Given the description of an element on the screen output the (x, y) to click on. 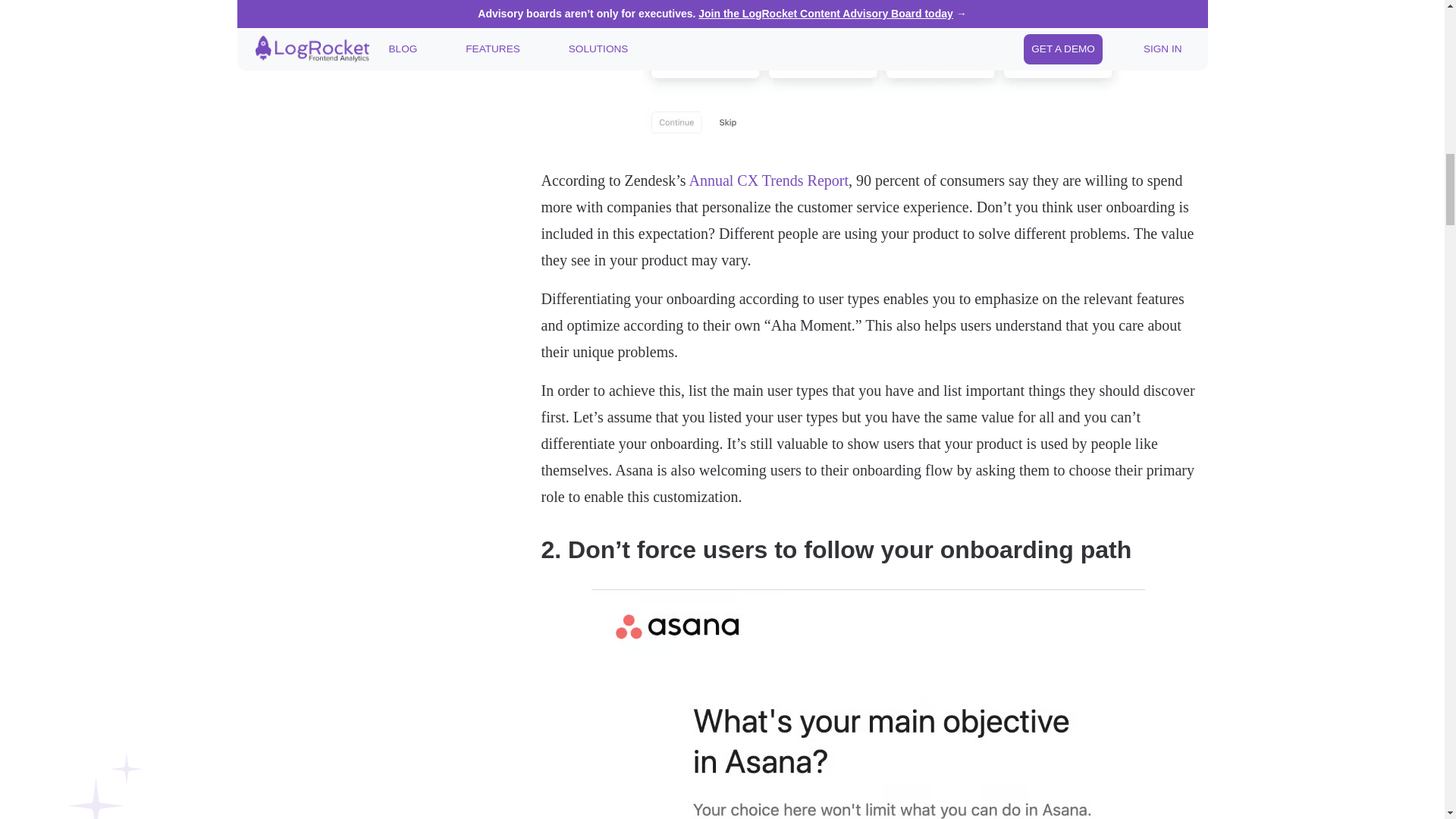
Annual CX Trends Report (768, 180)
